Given the description of an element on the screen output the (x, y) to click on. 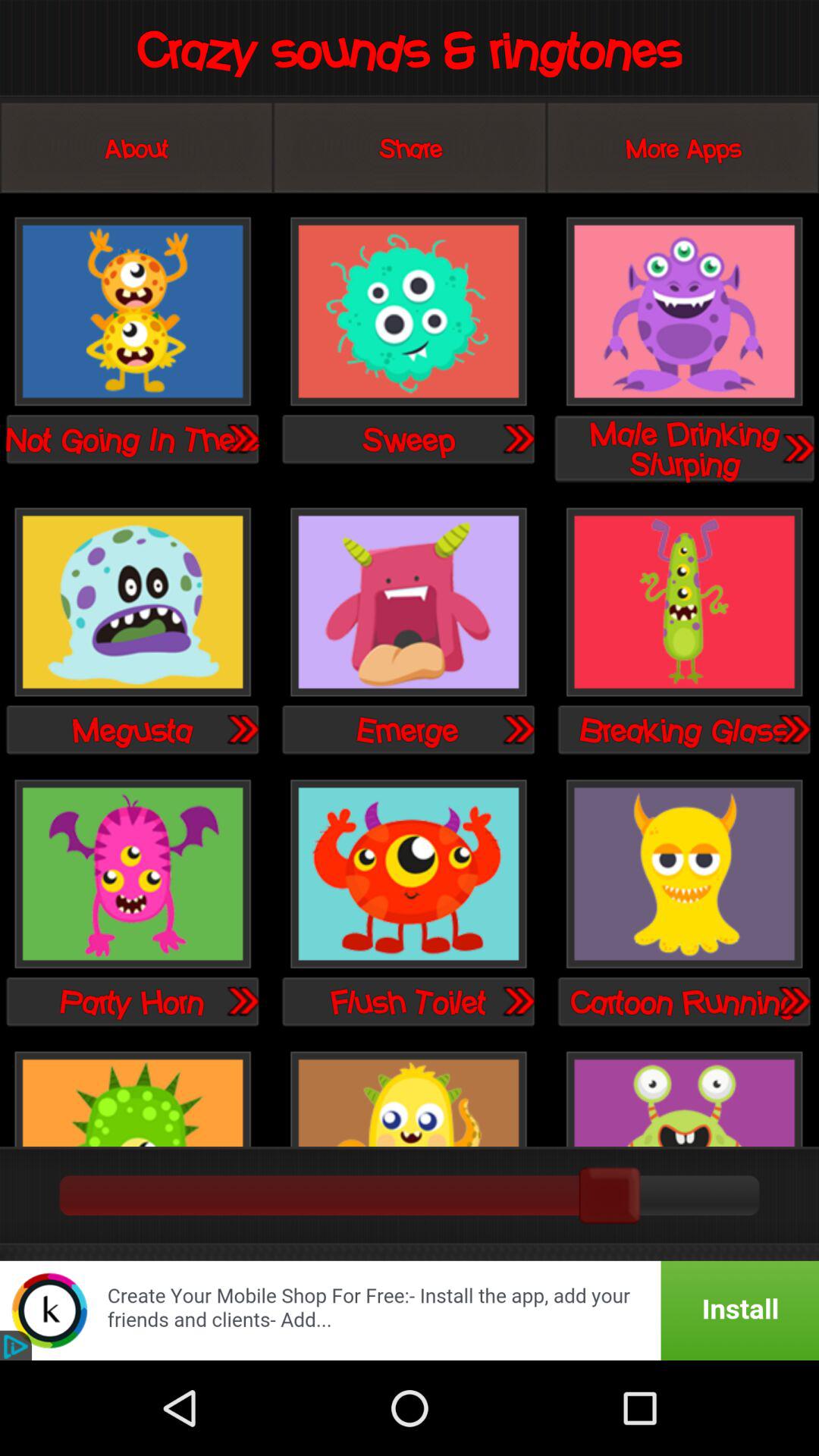
open breaking glass (793, 728)
